Given the description of an element on the screen output the (x, y) to click on. 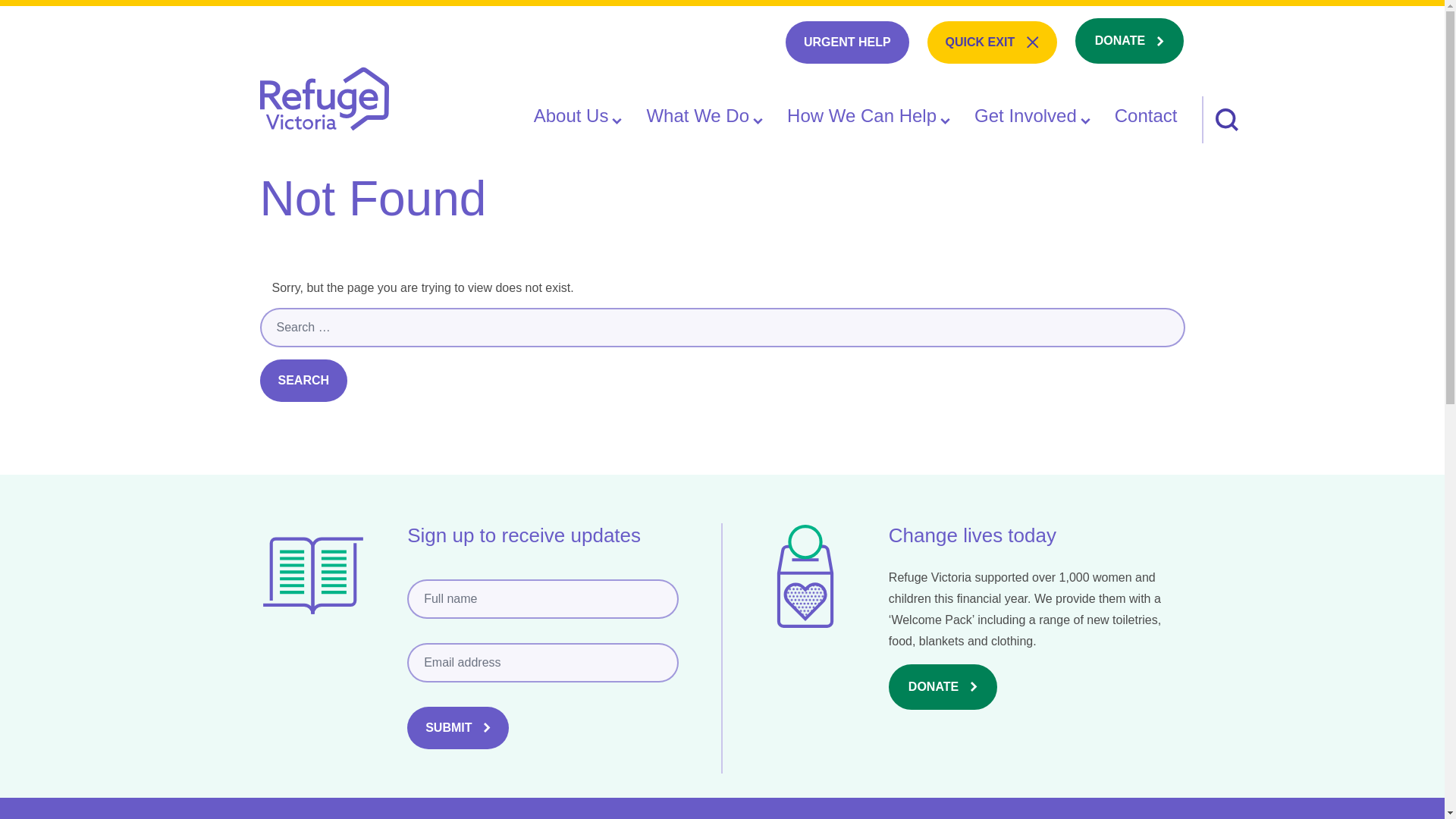
What We Do (704, 117)
Get Involved (1032, 117)
How We Can Help (868, 117)
About Us (578, 117)
QUICK EXIT (992, 42)
Contact (1146, 117)
Search (323, 104)
DONATE (303, 380)
URGENT HELP (1129, 40)
